Given the description of an element on the screen output the (x, y) to click on. 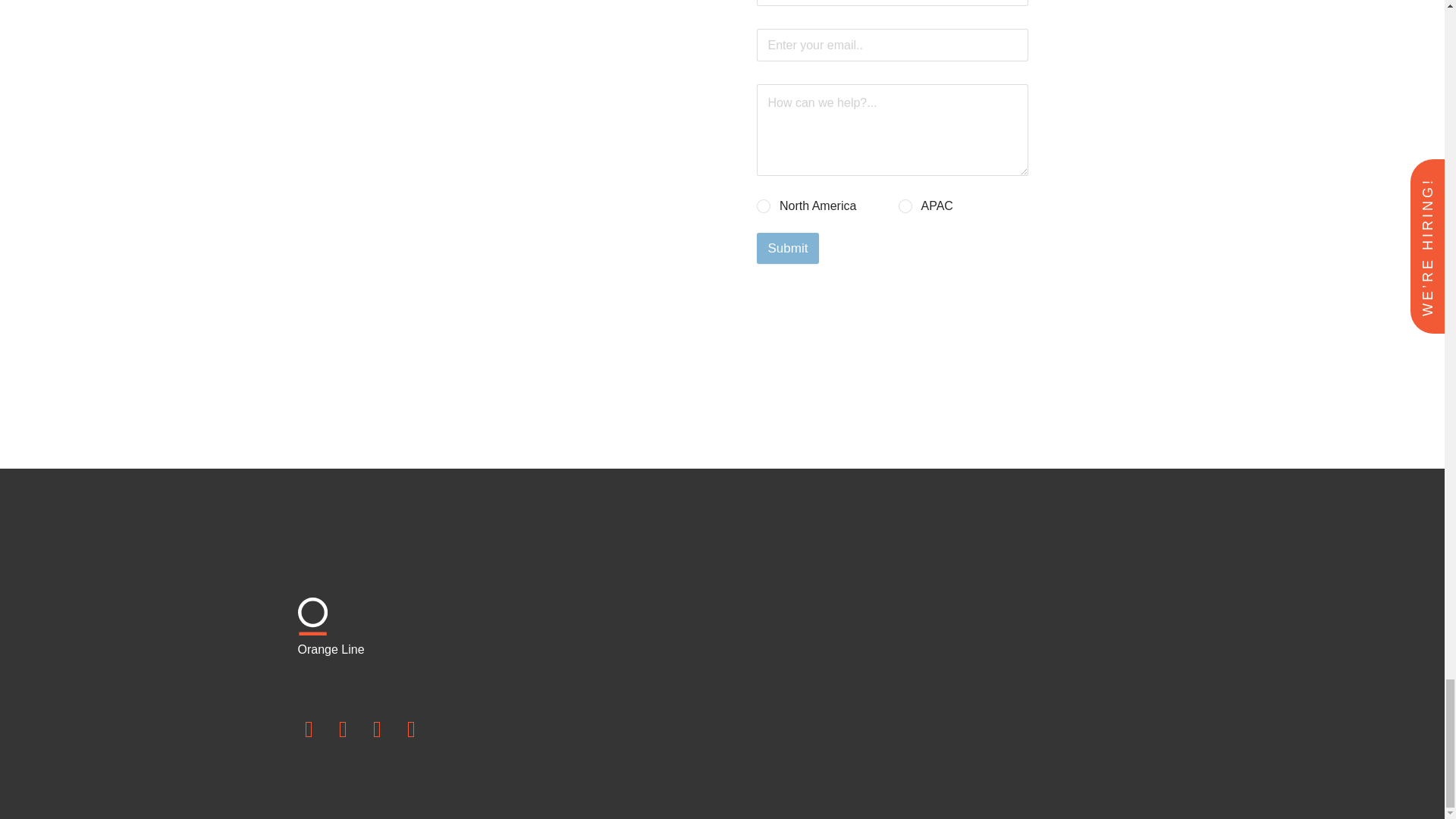
APAC (905, 205)
Submit (788, 247)
North America (764, 205)
Orange Line (397, 641)
